Given the description of an element on the screen output the (x, y) to click on. 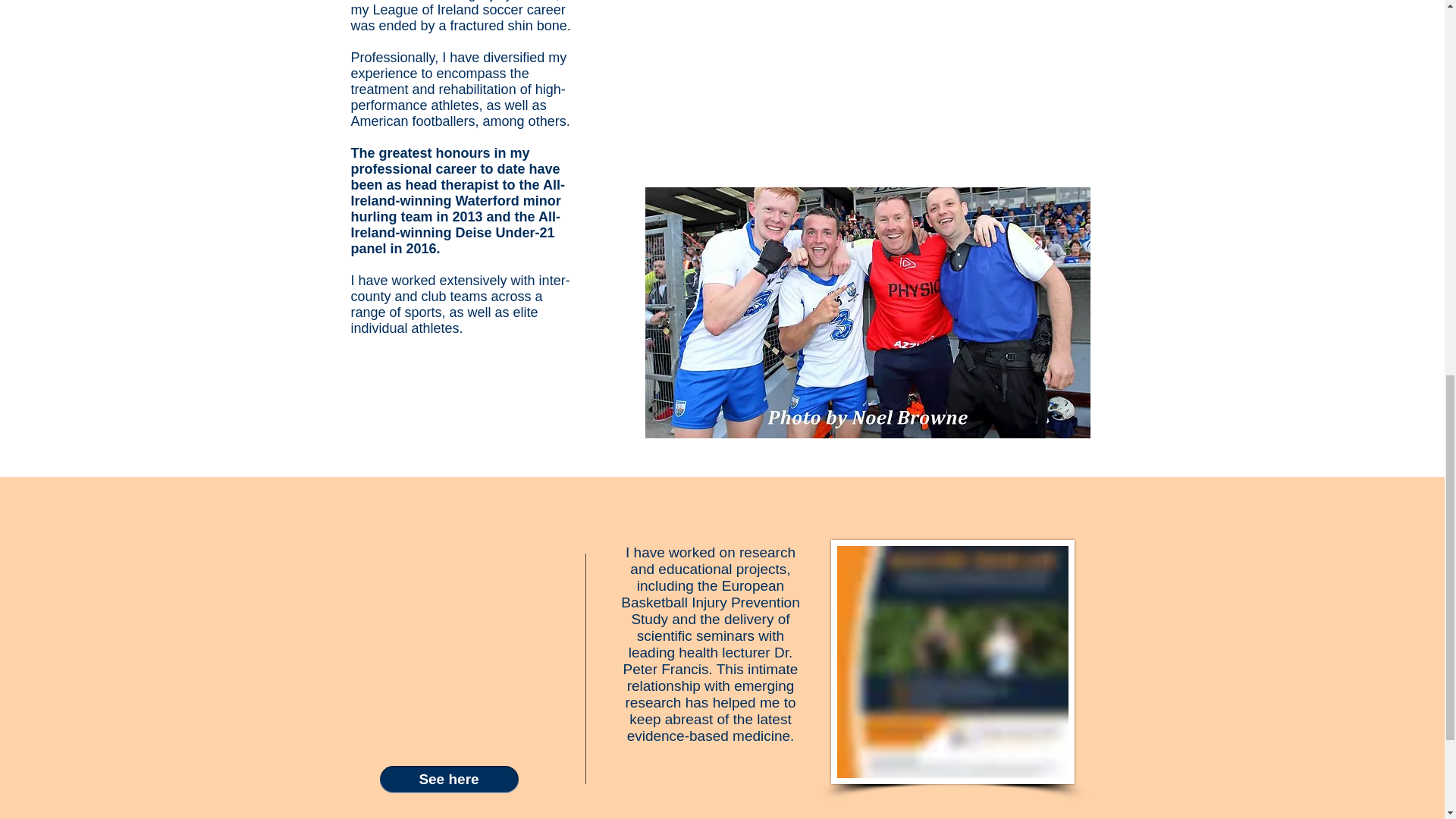
See here (448, 779)
use flan bg.JPG (867, 312)
run.JPG (952, 661)
